Given the description of an element on the screen output the (x, y) to click on. 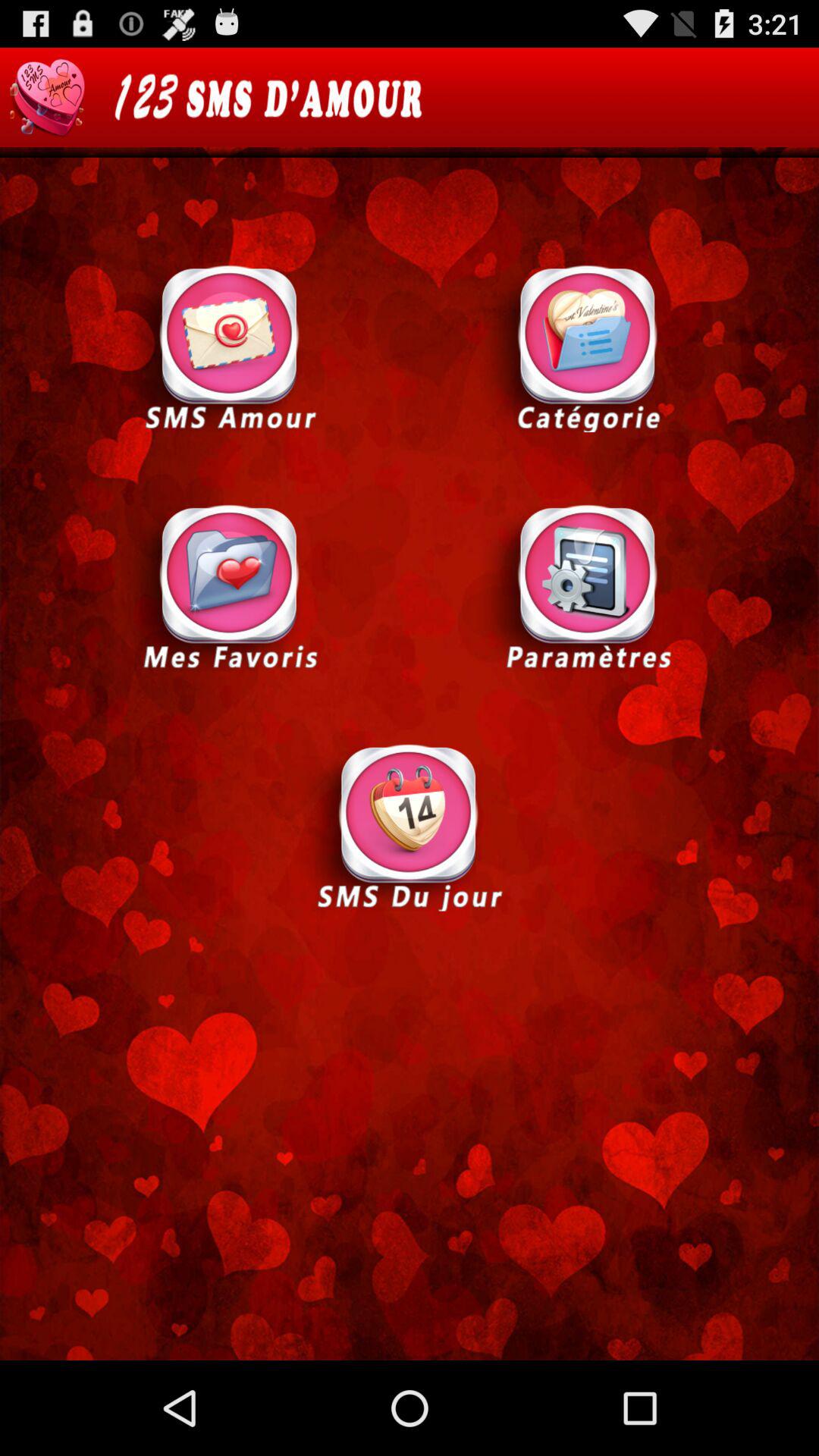
select the sms icon (229, 347)
